Given the description of an element on the screen output the (x, y) to click on. 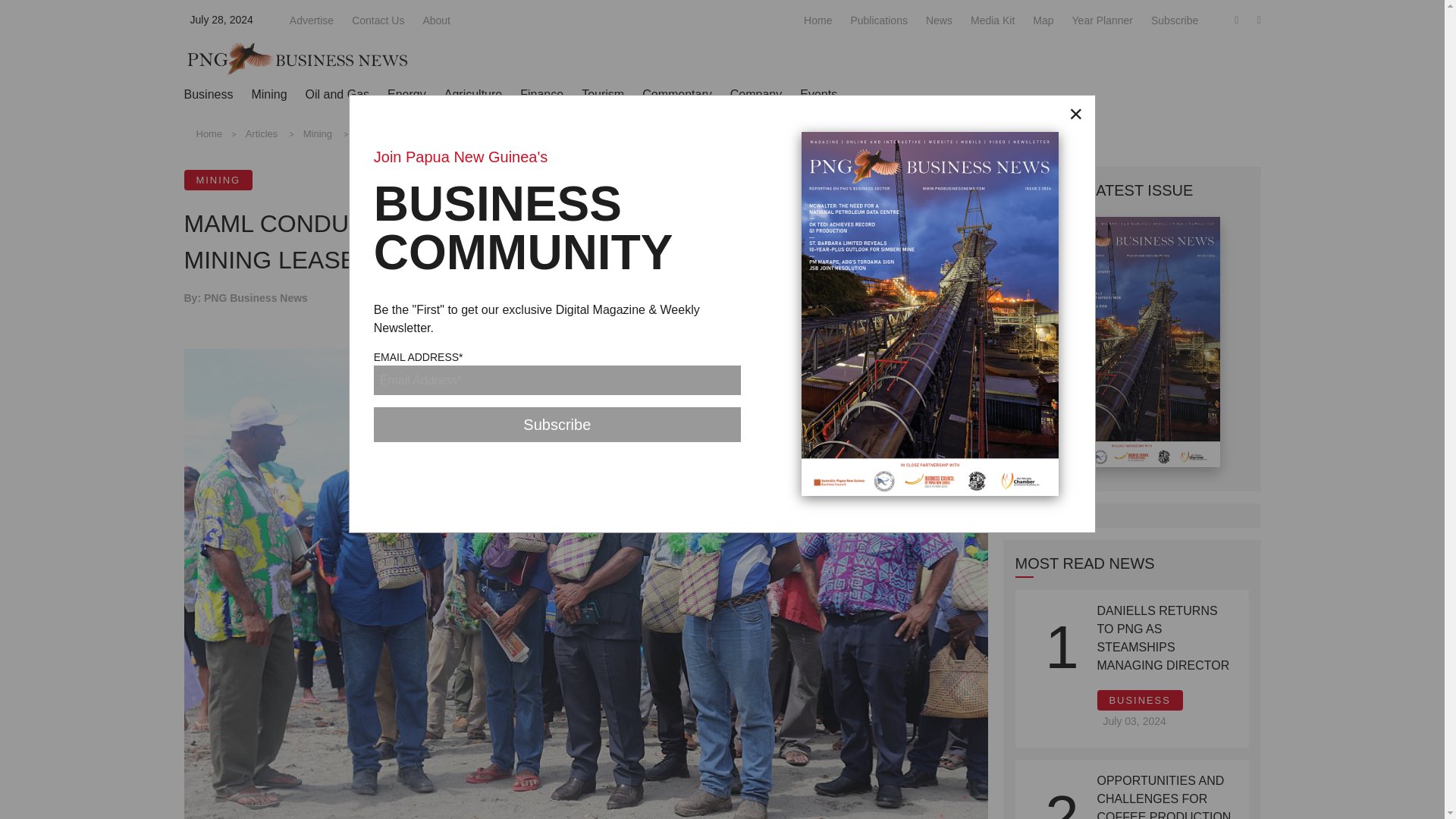
Tourism (602, 94)
Agriculture (473, 94)
Map (1042, 20)
About (435, 20)
Home (817, 20)
Company (755, 94)
Finance (541, 94)
PNG Business News (296, 58)
Subscribe (557, 424)
Commentary (676, 94)
Oil and Gas (337, 94)
Media Kit (992, 20)
Contact Us (378, 20)
Energy (406, 94)
Business (207, 94)
